Given the description of an element on the screen output the (x, y) to click on. 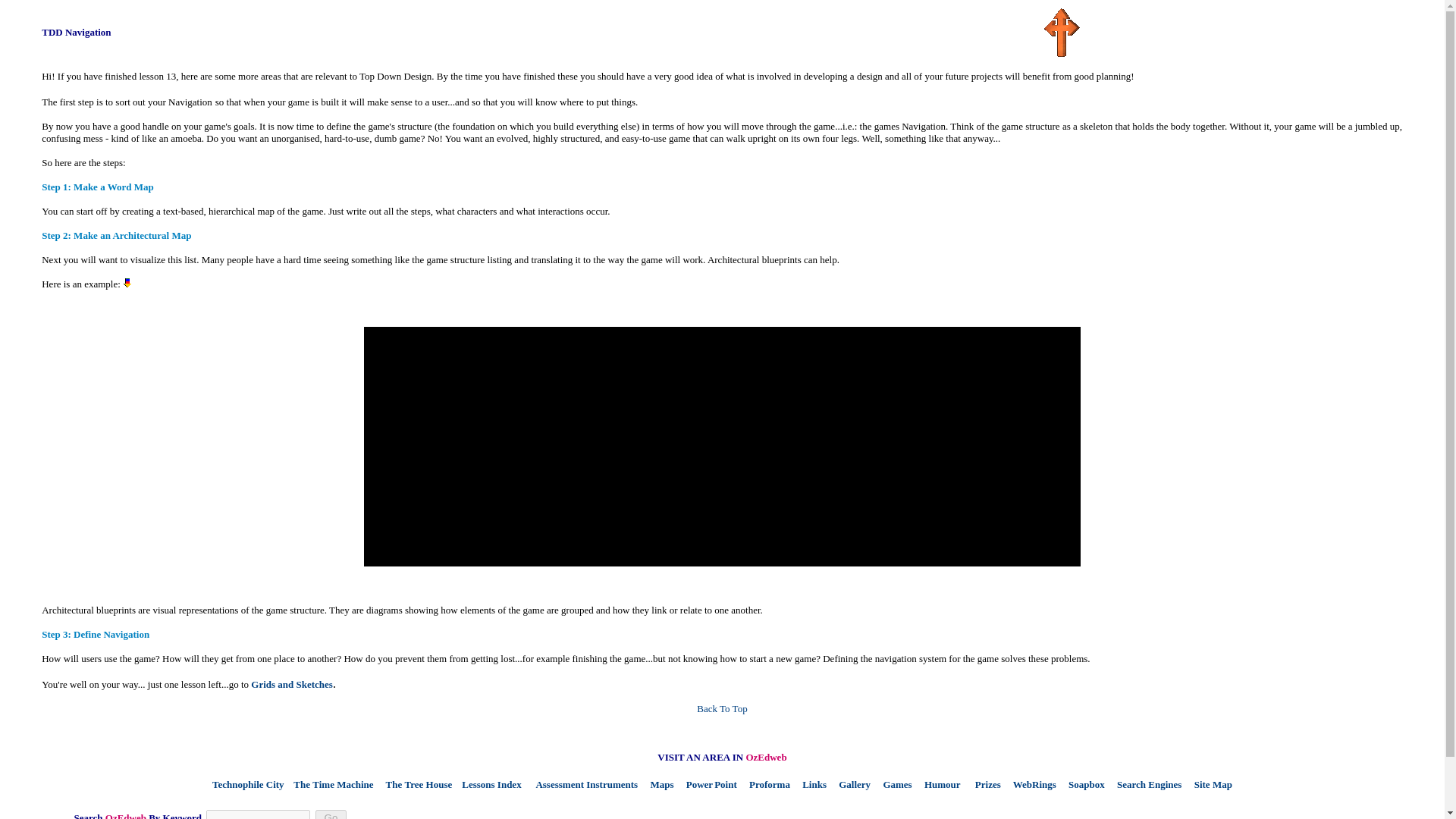
Grids and Sketches (291, 684)
   Soapbox (1082, 784)
   The.Tree.House (414, 784)
   Humour (938, 784)
   Games (894, 784)
   Gallery (850, 784)
   The.Time.Machine (330, 784)
 Go  (330, 814)
   Power.Point (707, 784)
   Lessons.Index (487, 784)
